Given the description of an element on the screen output the (x, y) to click on. 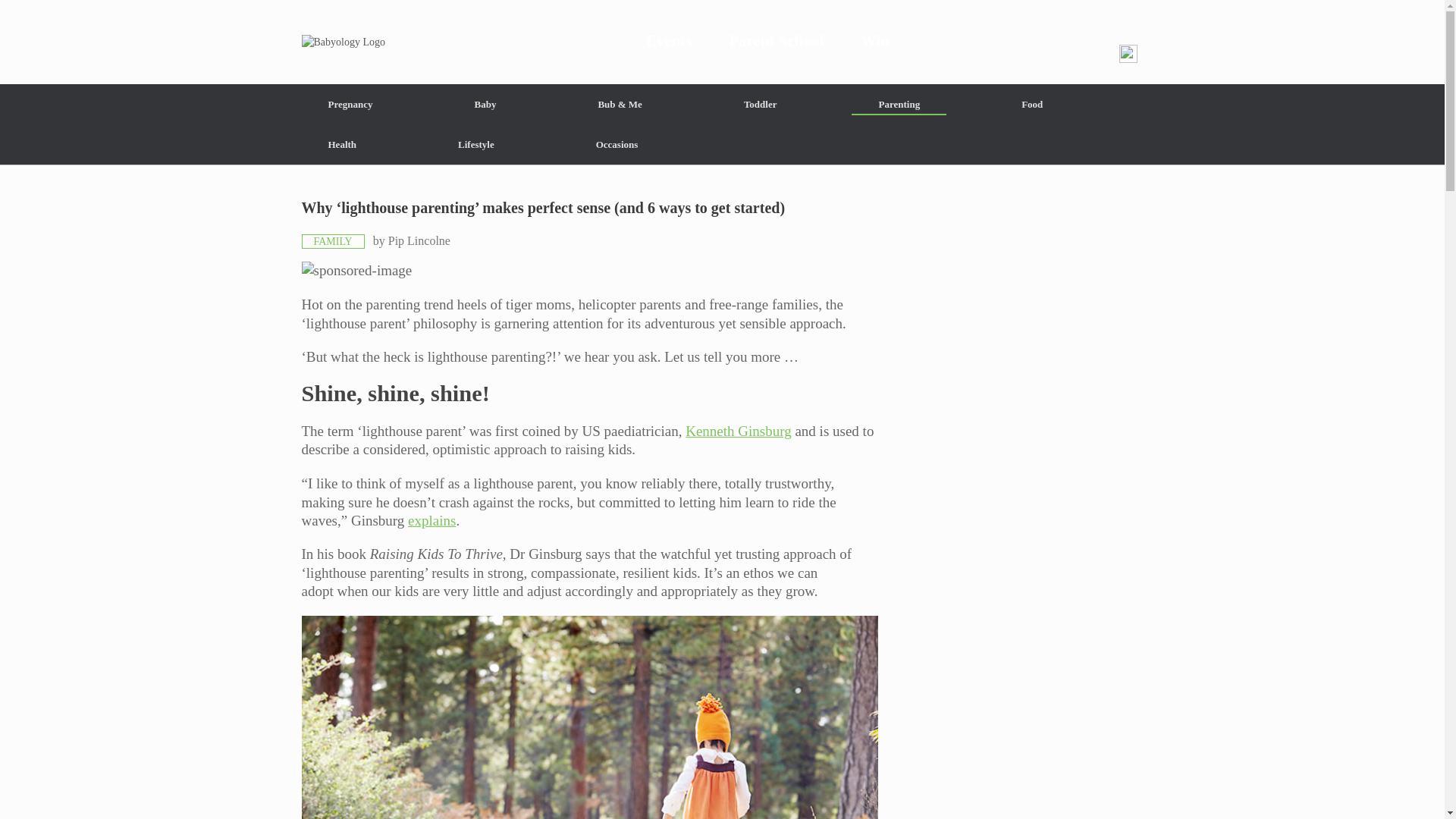
explains (431, 520)
Health (342, 144)
Parent School (776, 41)
Babyology (721, 41)
Win (874, 41)
Parenting (898, 104)
Events (669, 41)
Lifestyle (475, 144)
Occasions (617, 144)
Baby (484, 104)
View all posts by Pip Lincolne (418, 240)
Food (1031, 104)
Pregnancy (349, 104)
Pip Lincolne (418, 240)
FAMILY (333, 241)
